Given the description of an element on the screen output the (x, y) to click on. 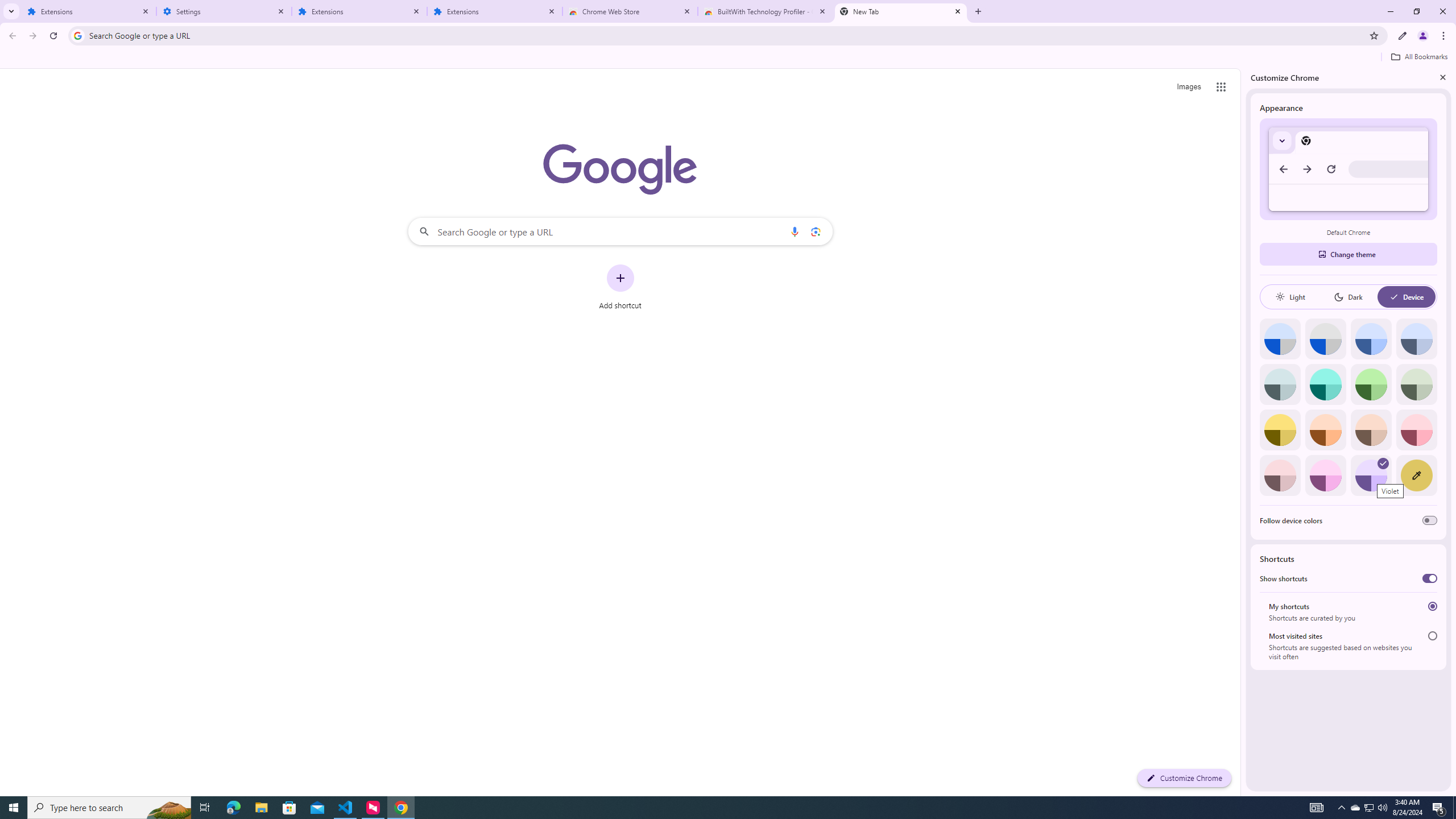
Green (1371, 383)
Grey default color (1325, 338)
Bookmarks (728, 58)
AutomationID: baseSvg (1394, 296)
Extensions (88, 11)
Citron (1279, 429)
Change theme (1348, 254)
Extensions (359, 11)
Most visited sites (1432, 635)
